Given the description of an element on the screen output the (x, y) to click on. 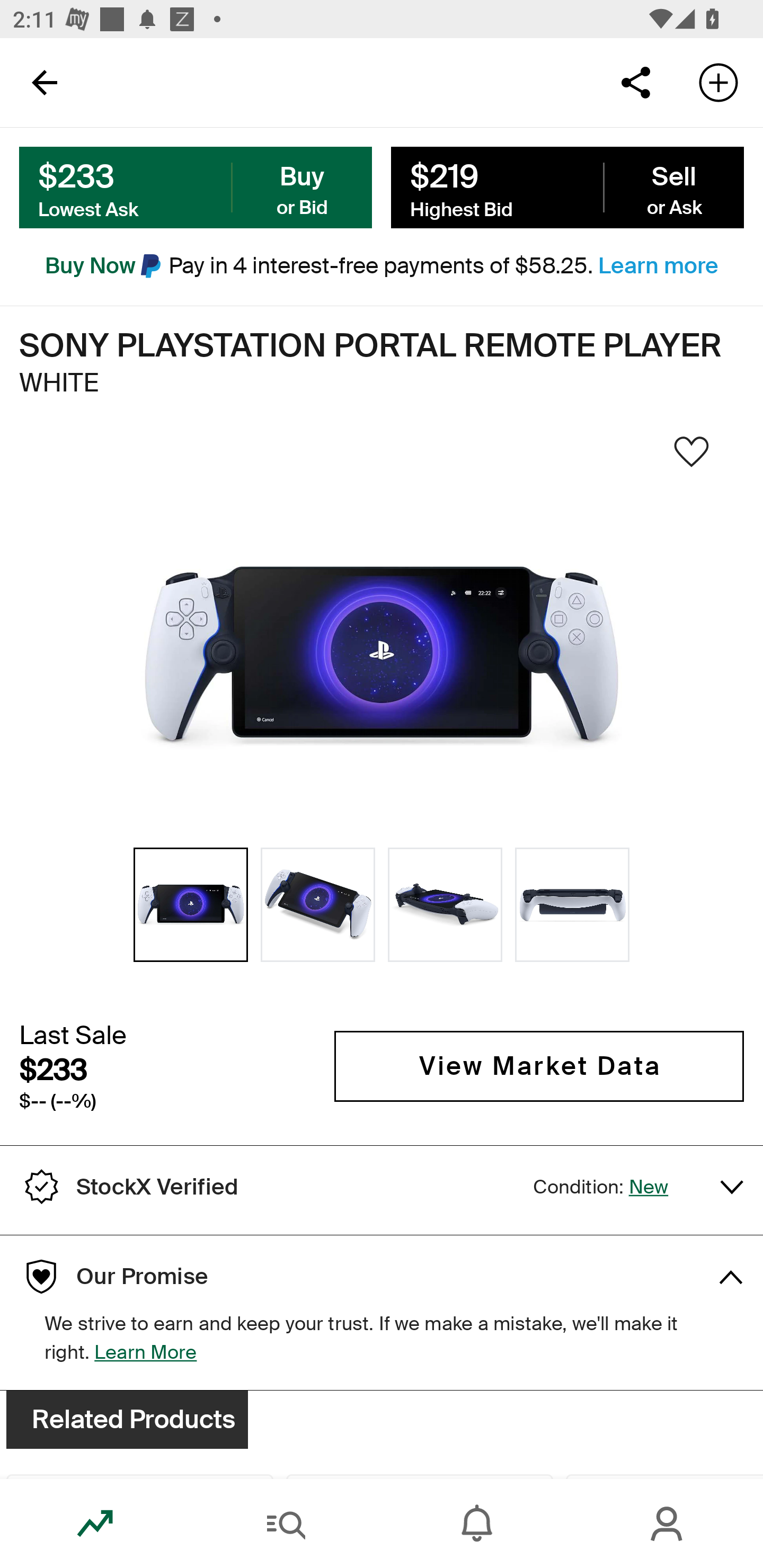
Share (635, 81)
Add (718, 81)
$233 Buy Lowest Ask or Bid (195, 187)
$219 Sell Highest Bid or Ask (566, 187)
Sneaker Image (381, 655)
View Market Data (538, 1065)
Search (285, 1523)
Inbox (476, 1523)
Account (667, 1523)
